Given the description of an element on the screen output the (x, y) to click on. 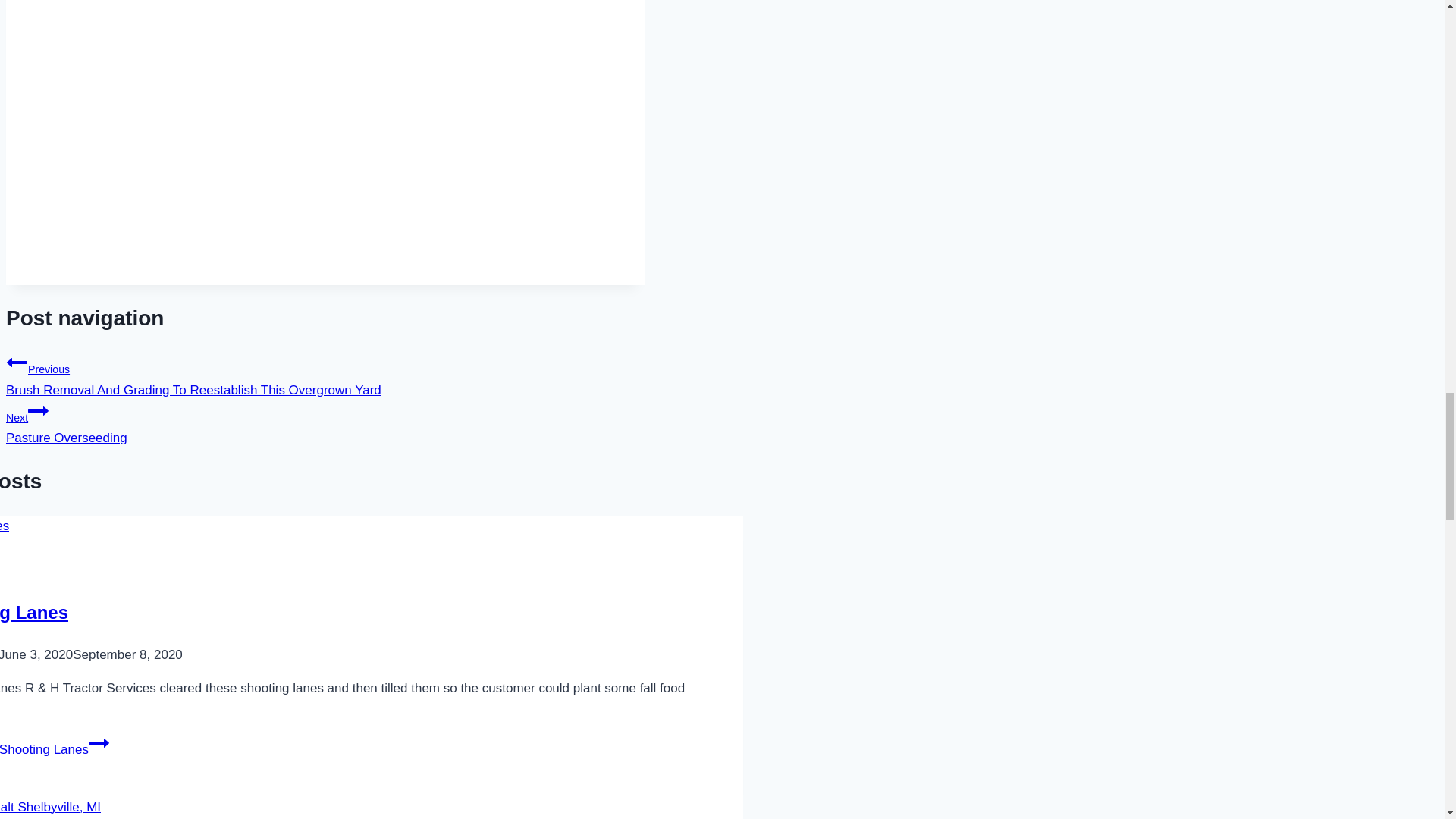
Continue (325, 422)
Previous (98, 742)
Continue (16, 362)
Shooting Lanes (37, 410)
